Given the description of an element on the screen output the (x, y) to click on. 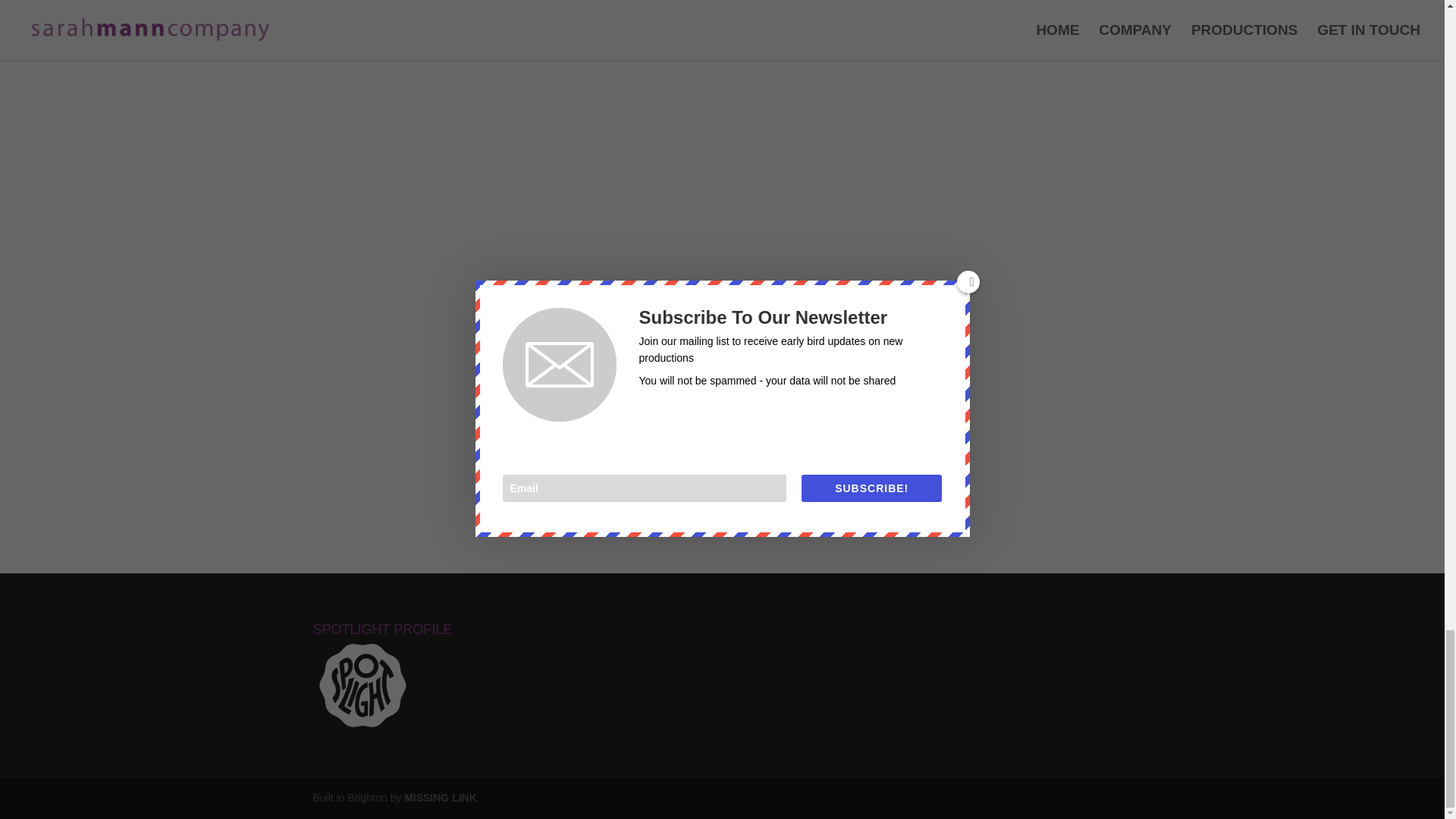
MISSING LINK (440, 797)
